Given the description of an element on the screen output the (x, y) to click on. 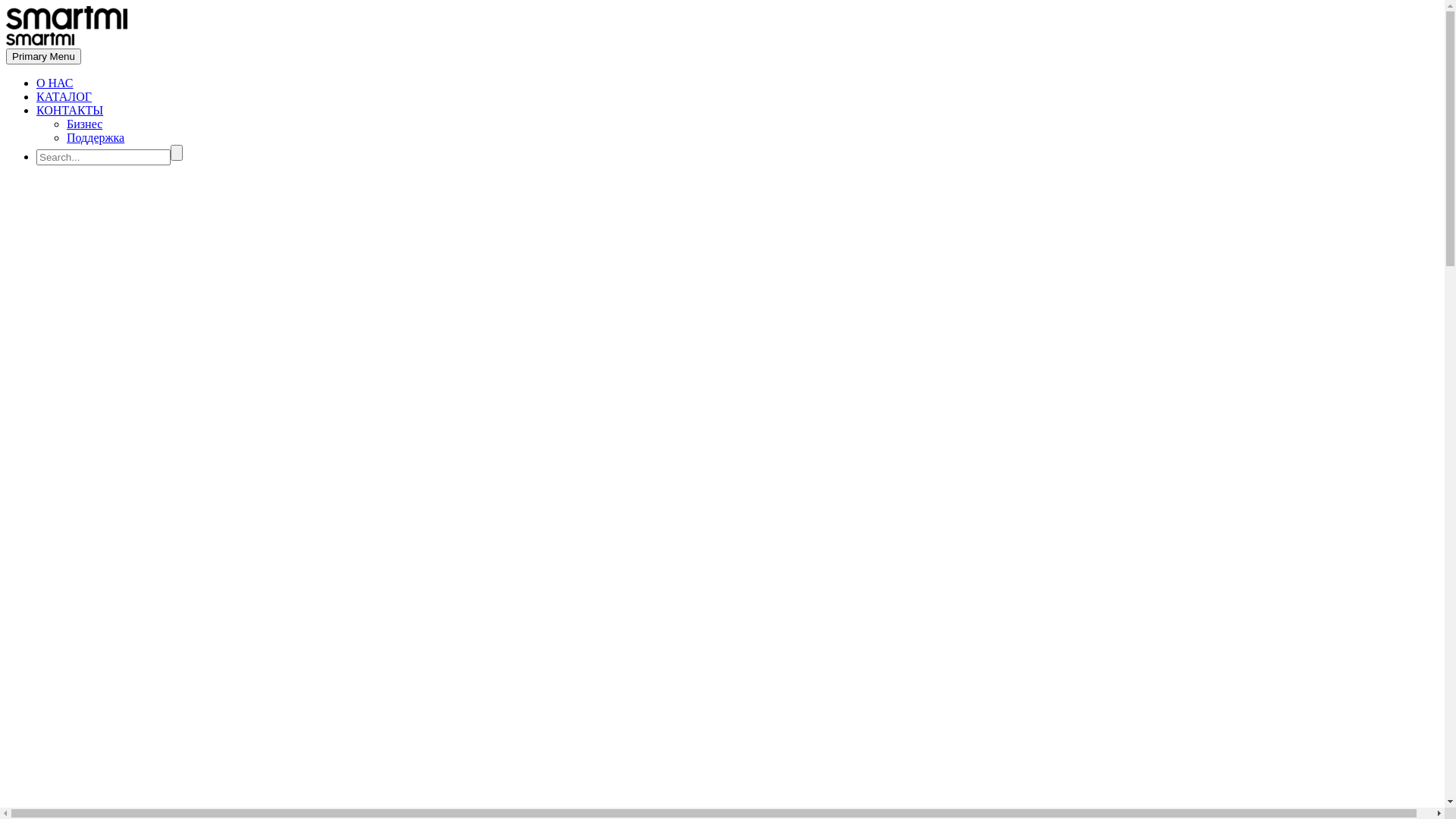
Primary Menu Element type: text (43, 56)
